Given the description of an element on the screen output the (x, y) to click on. 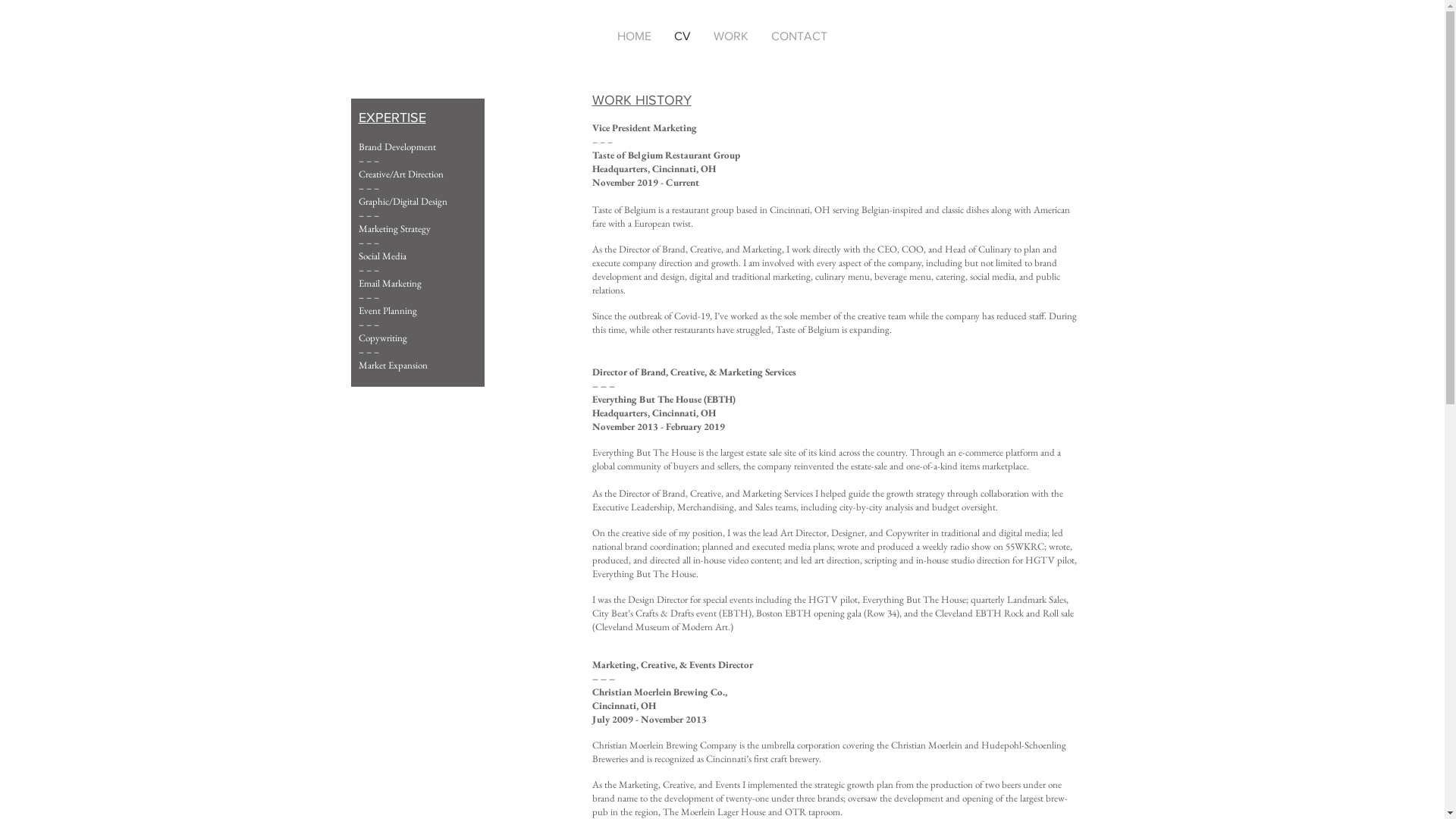
HOME Element type: text (633, 36)
CV Element type: text (682, 36)
WORK Element type: text (730, 36)
CONTACT Element type: text (798, 36)
